Given the description of an element on the screen output the (x, y) to click on. 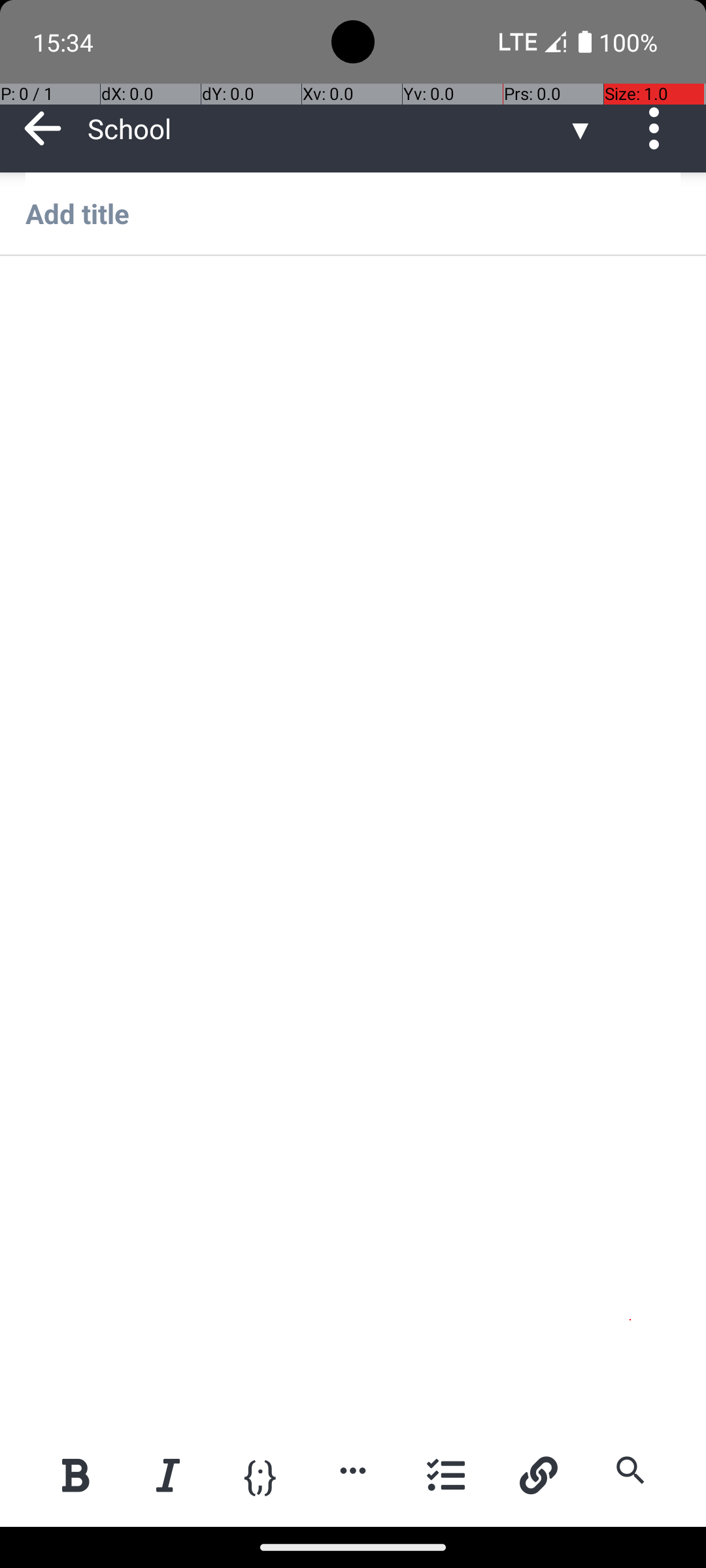
Add title Element type: android.widget.EditText (352, 213)

 Element type: android.widget.EditText (354, 298)
